Given the description of an element on the screen output the (x, y) to click on. 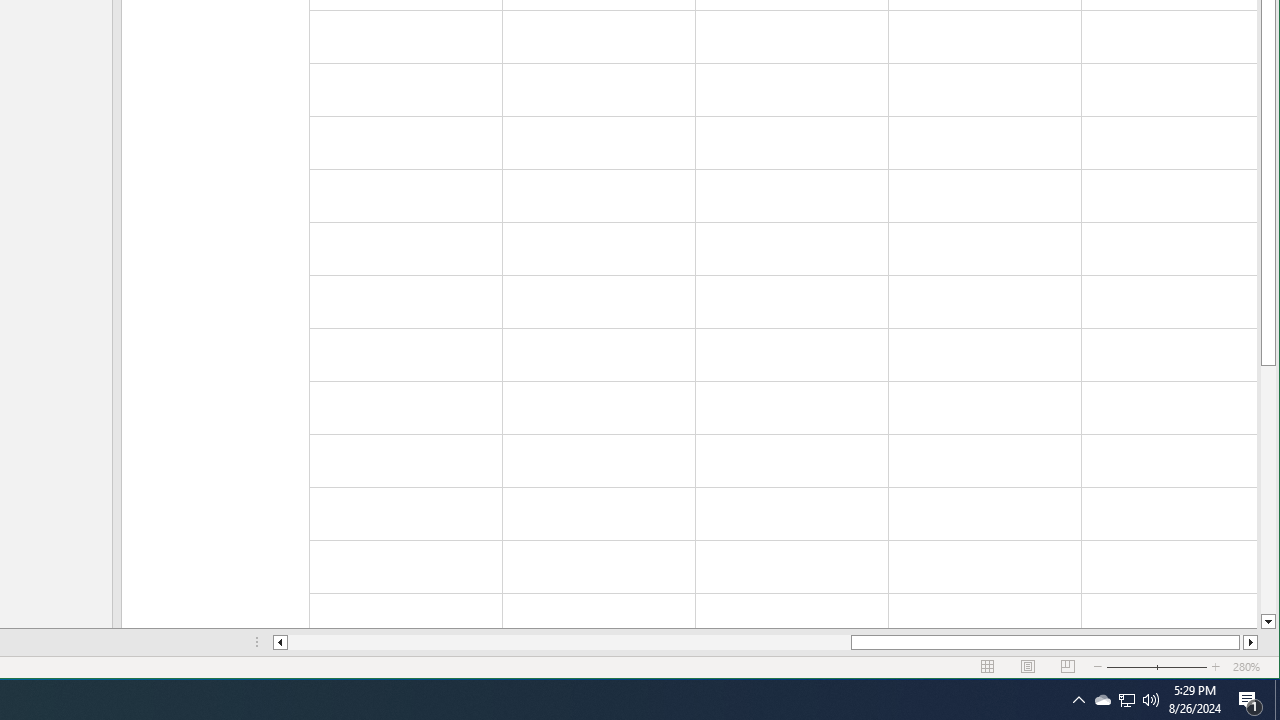
Page left (569, 642)
User Promoted Notification Area (1126, 699)
